Given the description of an element on the screen output the (x, y) to click on. 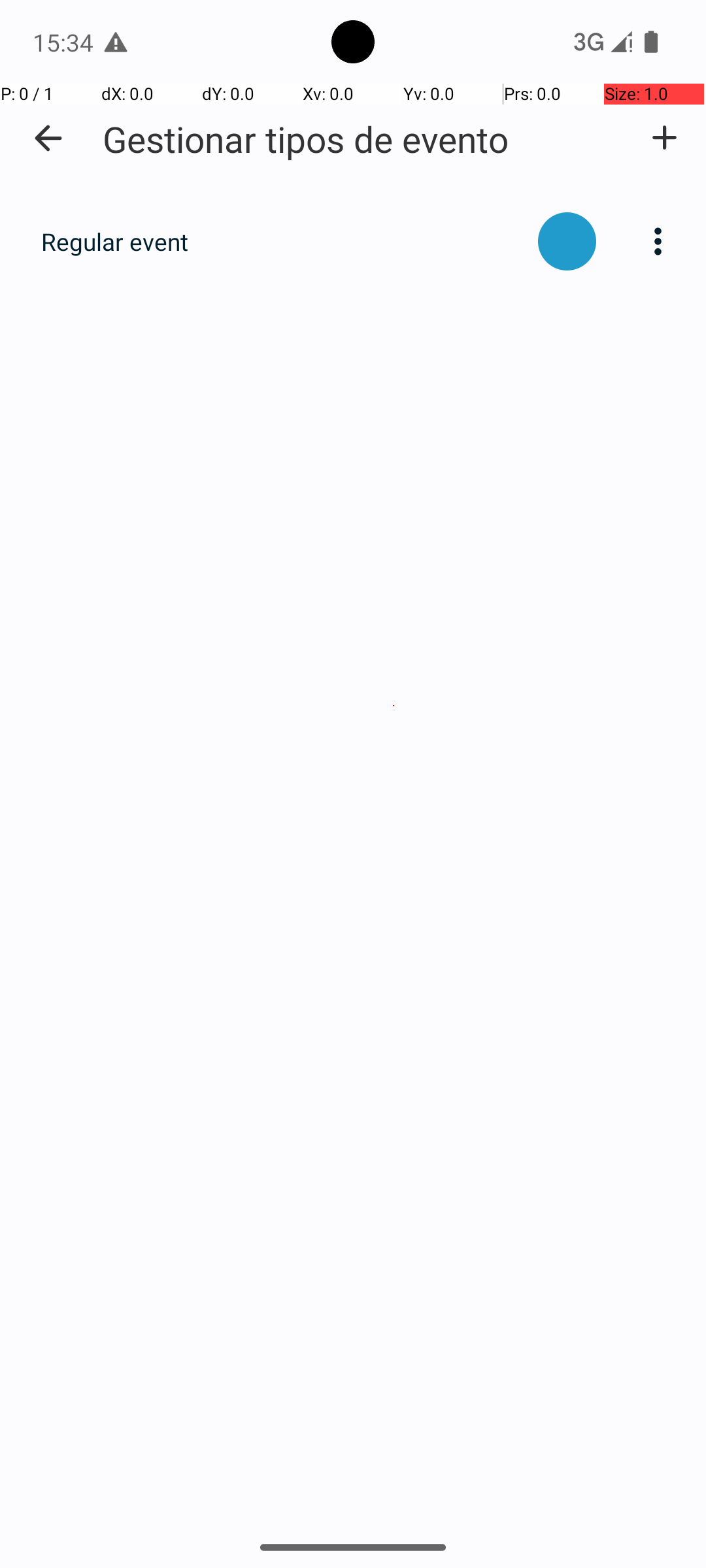
Gestionar tipos de evento Element type: android.widget.TextView (305, 138)
Agregar un nuevo tipo de evento Element type: android.widget.Button (664, 137)
Regular event Element type: android.widget.TextView (282, 241)
